Given the description of an element on the screen output the (x, y) to click on. 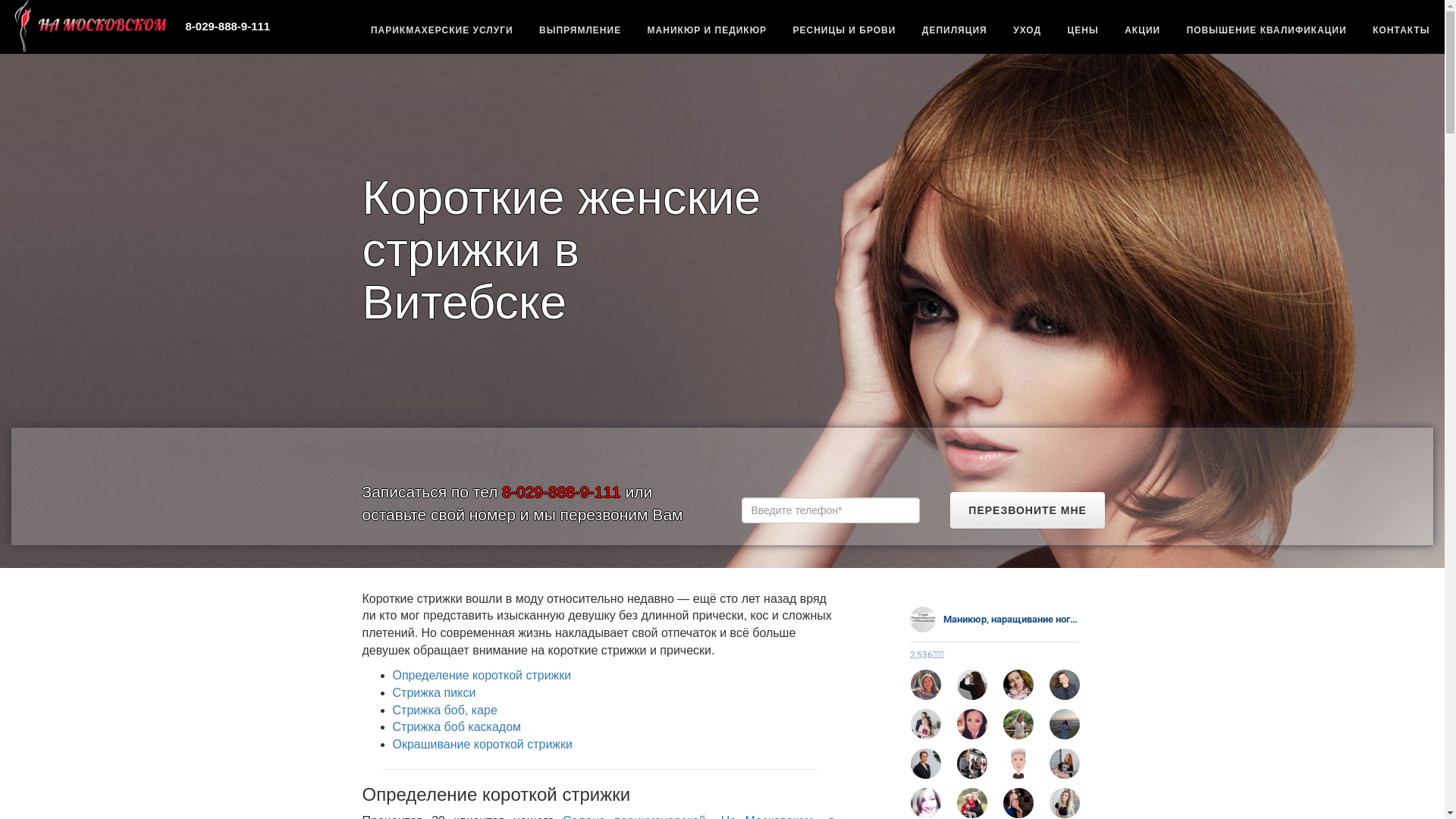
8-029-888-9-111 Element type: text (227, 25)
